Given the description of an element on the screen output the (x, y) to click on. 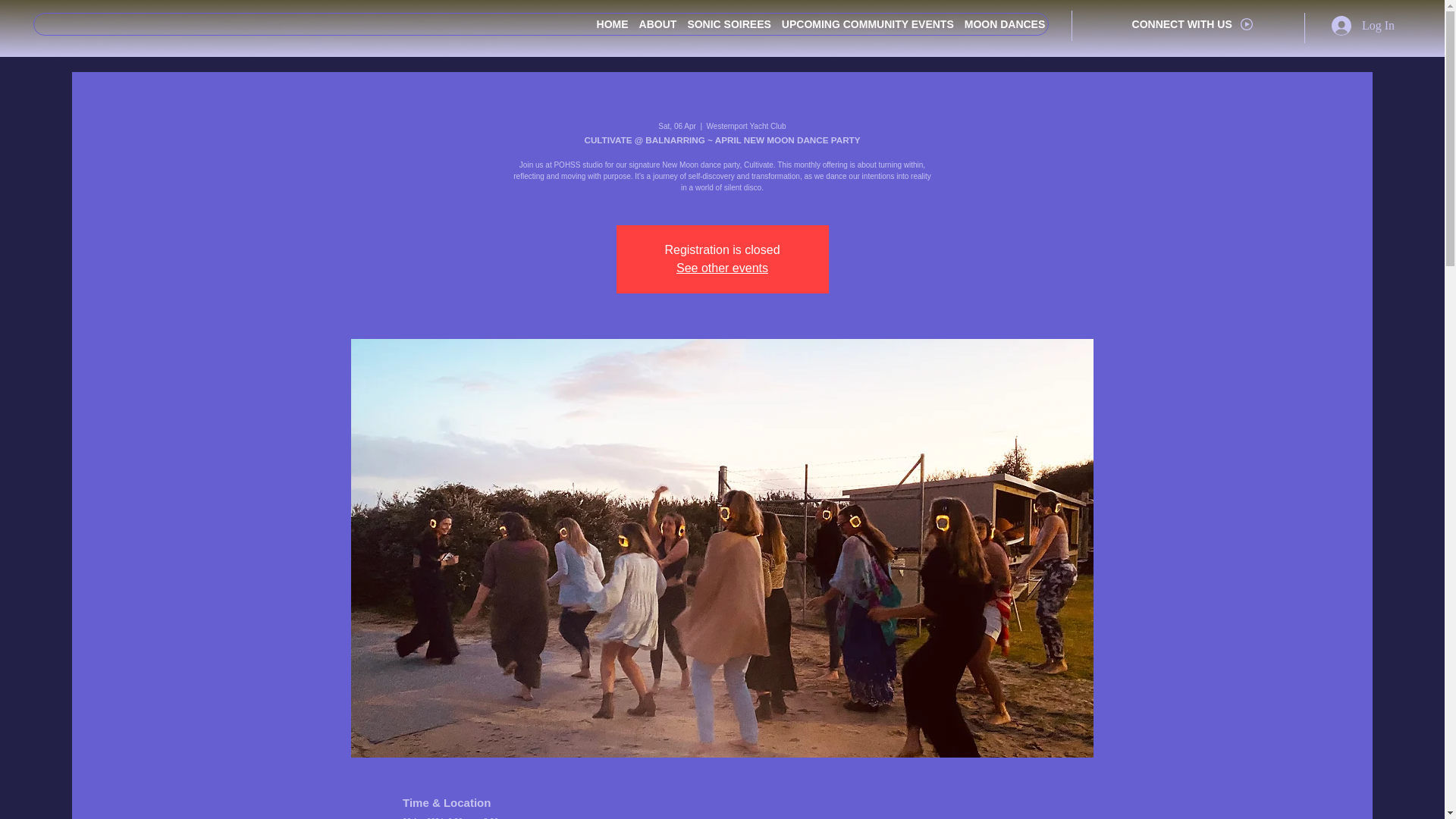
UPCOMING COMMUNITY EVENTS (867, 24)
CONNECT WITH US (1192, 24)
See other events (722, 267)
SONIC SOIREES (728, 24)
MOON DANCES (1004, 24)
ABOUT (657, 24)
HOME (612, 24)
Log In (1362, 25)
